Given the description of an element on the screen output the (x, y) to click on. 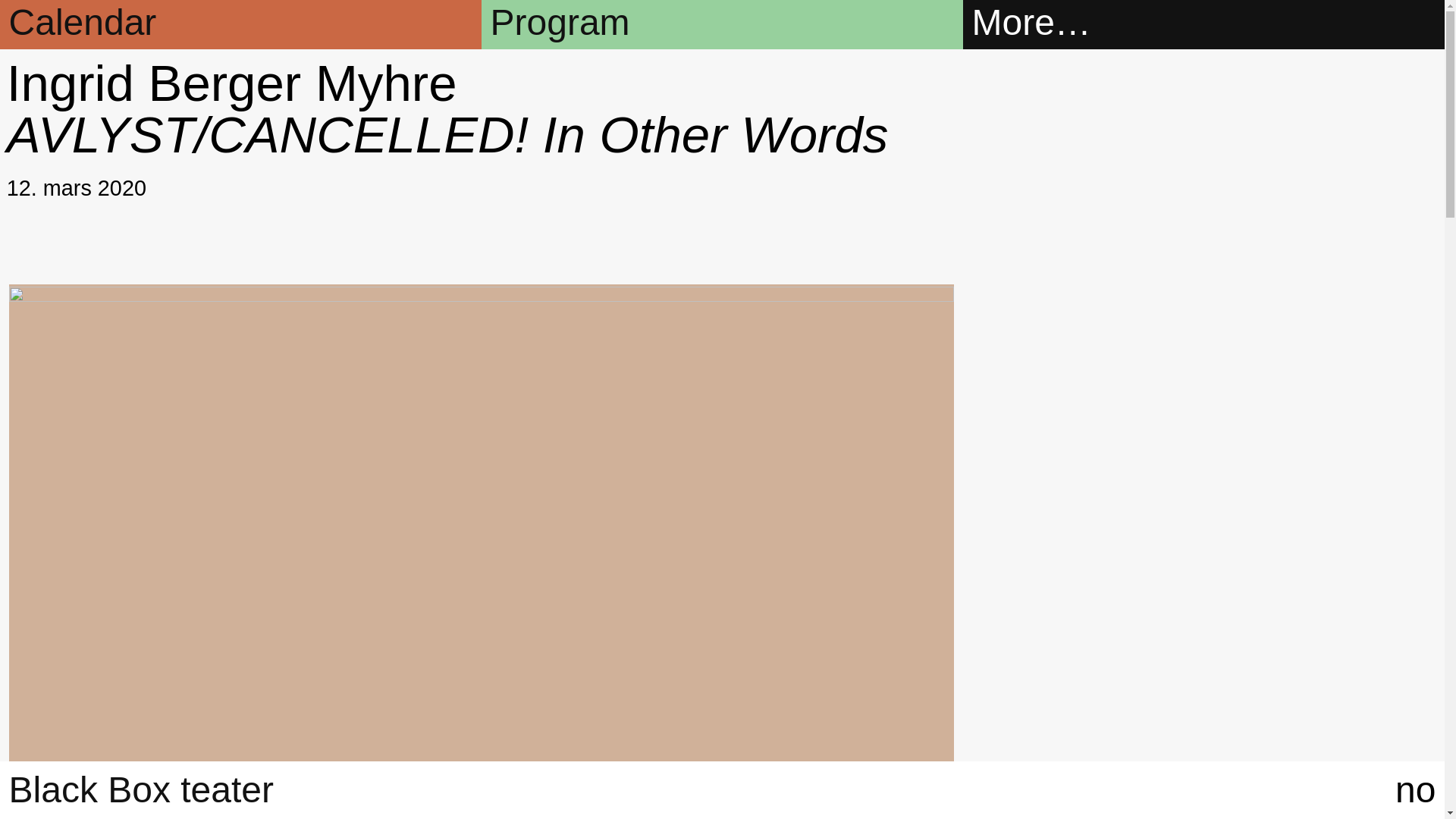
Bytt til norsk (1414, 789)
Calendar (240, 43)
